Given the description of an element on the screen output the (x, y) to click on. 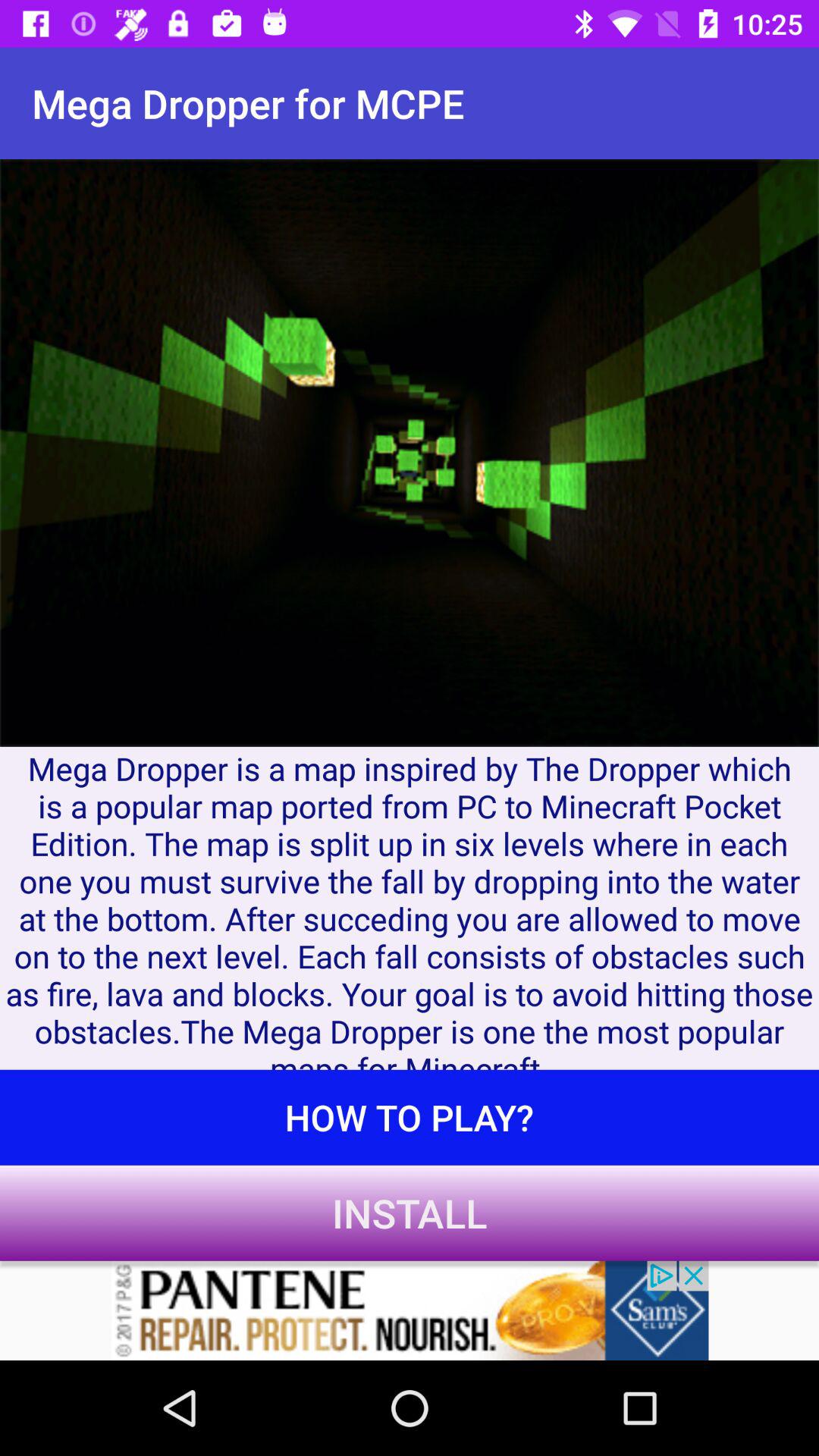
advertisement (409, 1310)
